Given the description of an element on the screen output the (x, y) to click on. 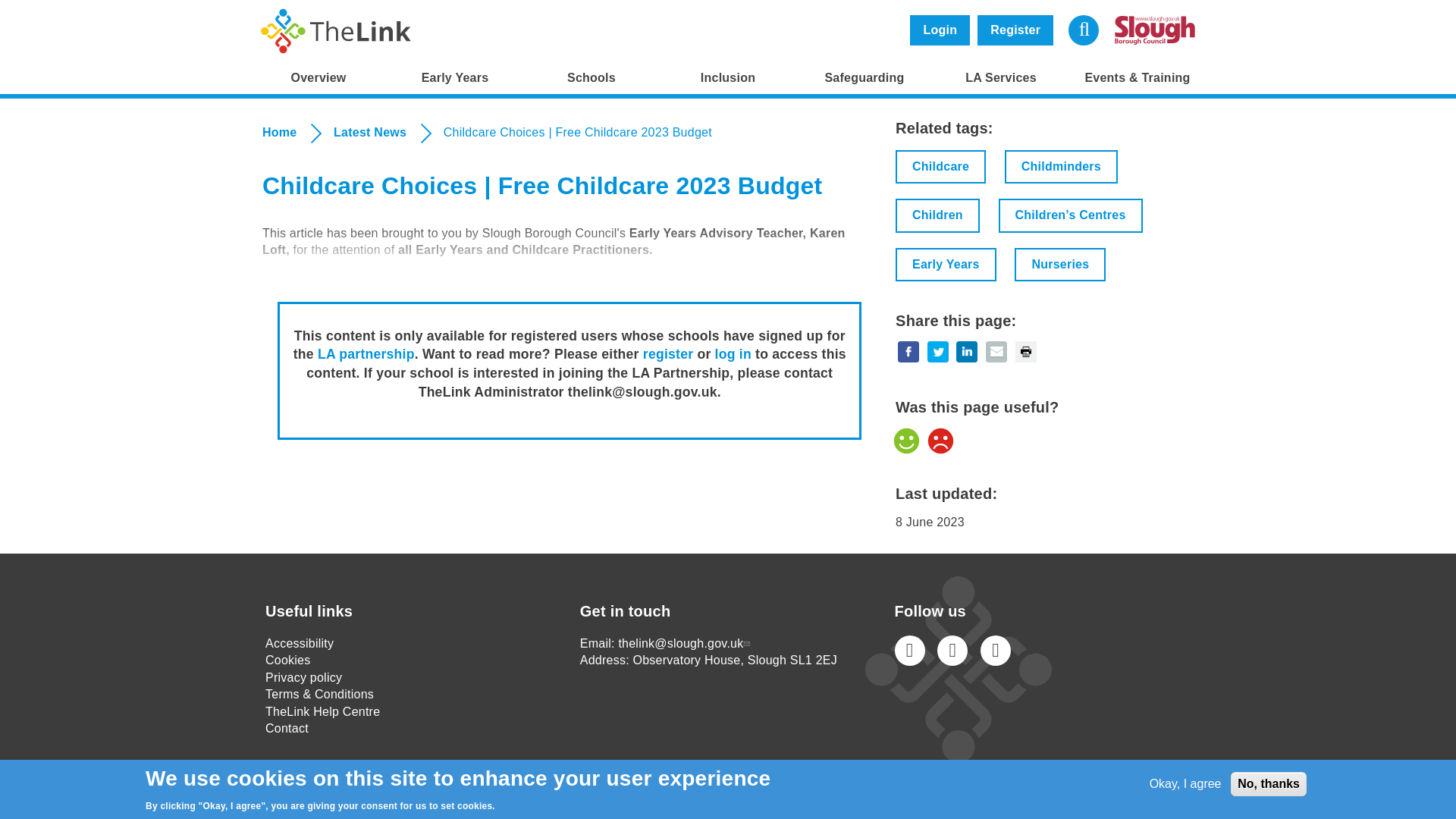
Register (1014, 30)
Overview (318, 78)
Home (336, 30)
Twitter (952, 650)
Schools (590, 78)
Login (939, 30)
Early Years (454, 78)
